Given the description of an element on the screen output the (x, y) to click on. 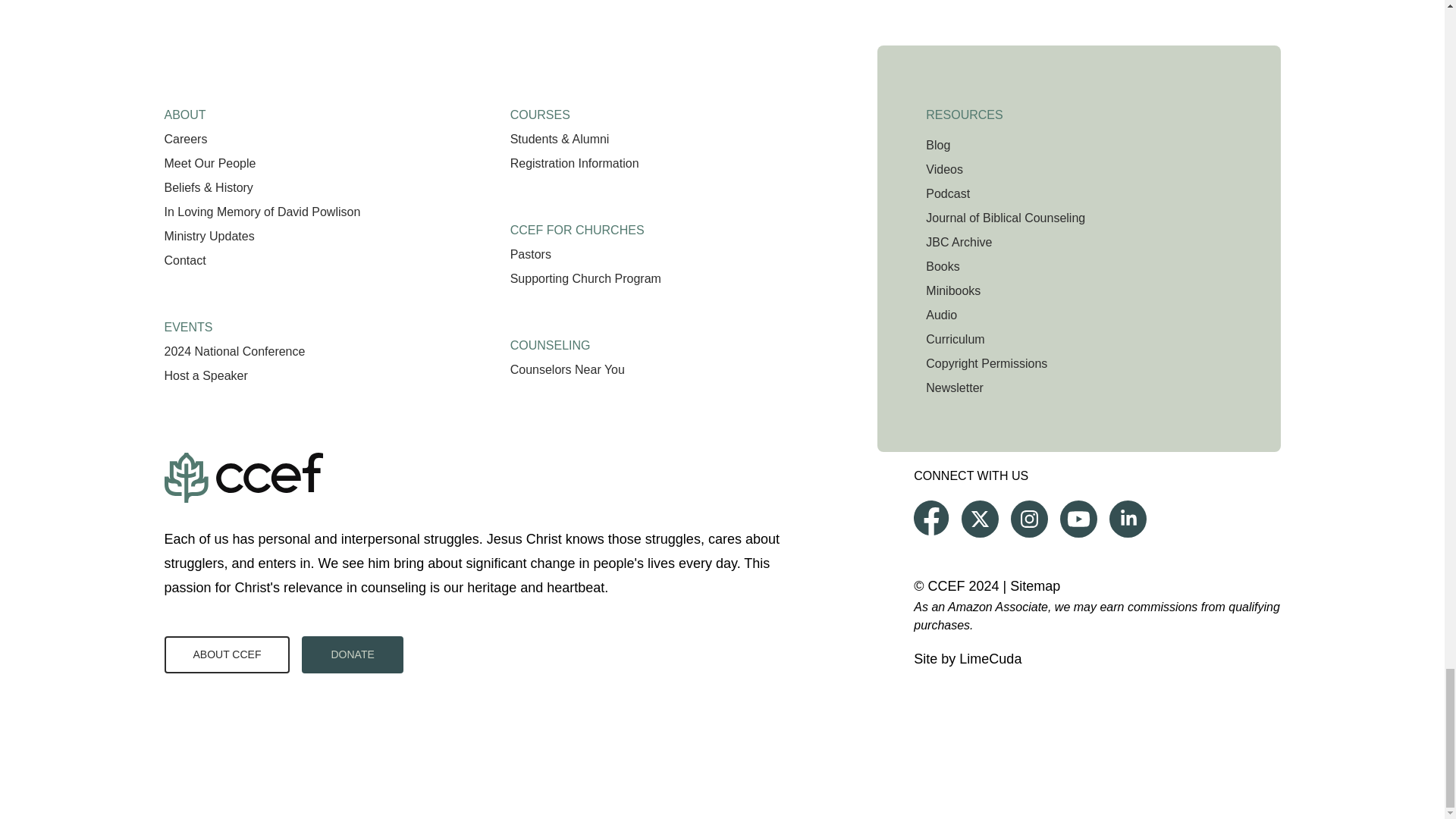
ABOUT (184, 109)
